Given the description of an element on the screen output the (x, y) to click on. 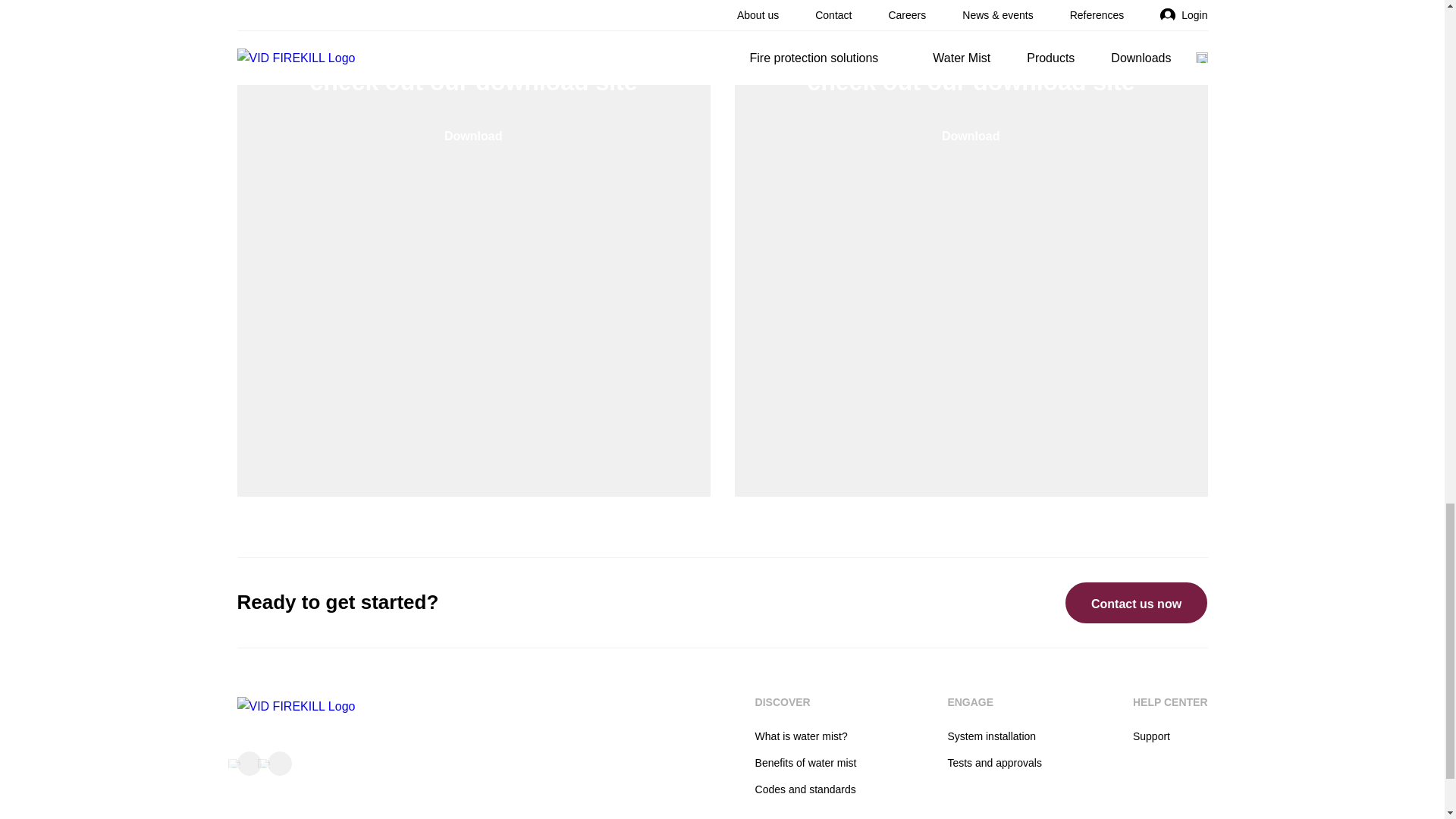
Benefits of water mist (806, 762)
Contact us now (1136, 602)
What is water mist? (801, 736)
Download (473, 134)
Download (970, 134)
Codes and standards (805, 788)
